Given the description of an element on the screen output the (x, y) to click on. 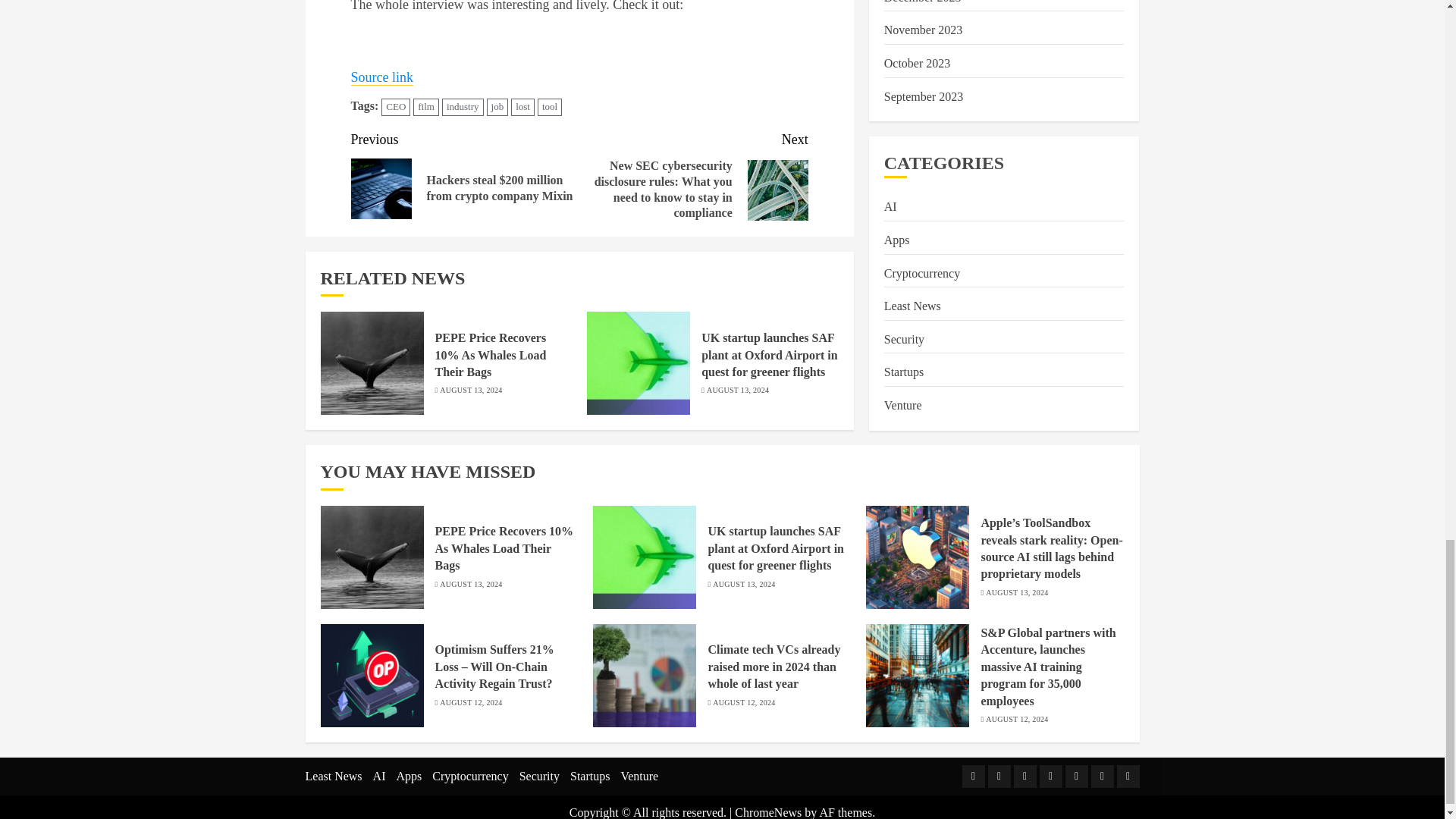
CEO (395, 107)
job (497, 107)
film (426, 107)
Source link (381, 77)
industry (462, 107)
